Given the description of an element on the screen output the (x, y) to click on. 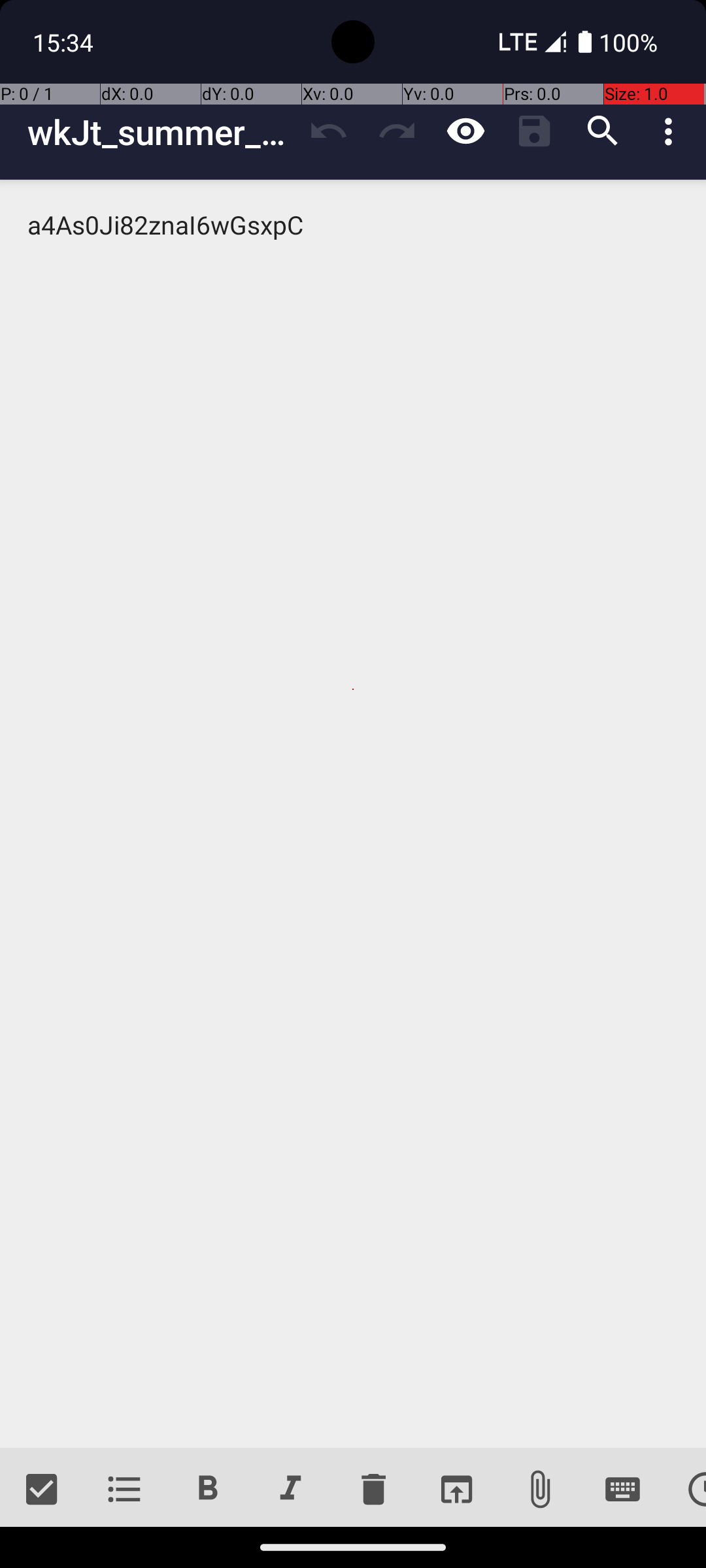
wkJt_summer_vacation_plans Element type: android.widget.TextView (160, 131)
a4As0Ji82znaI6wGsxpC
 Element type: android.widget.EditText (353, 813)
